Given the description of an element on the screen output the (x, y) to click on. 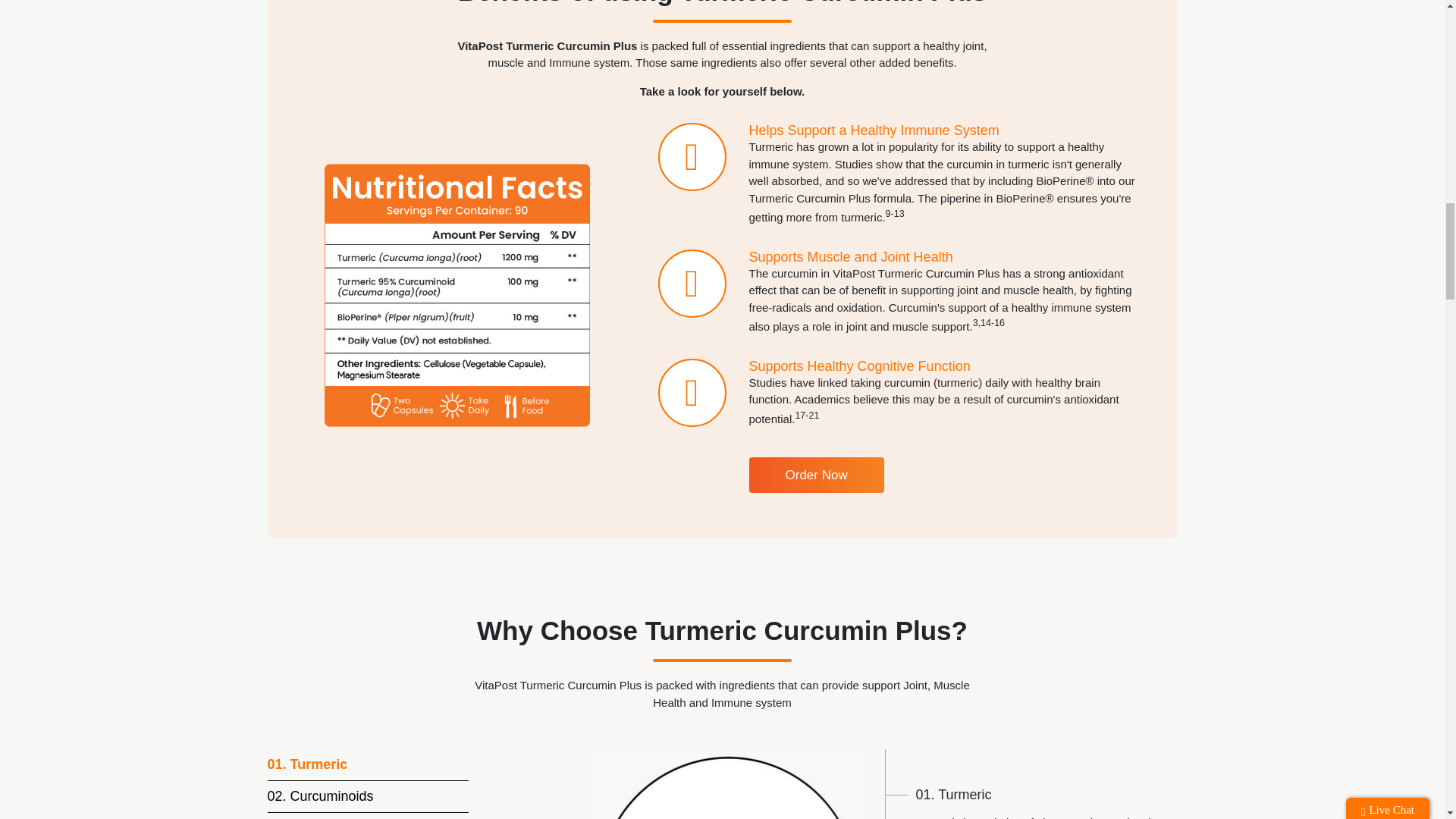
Order Now (816, 474)
